Given the description of an element on the screen output the (x, y) to click on. 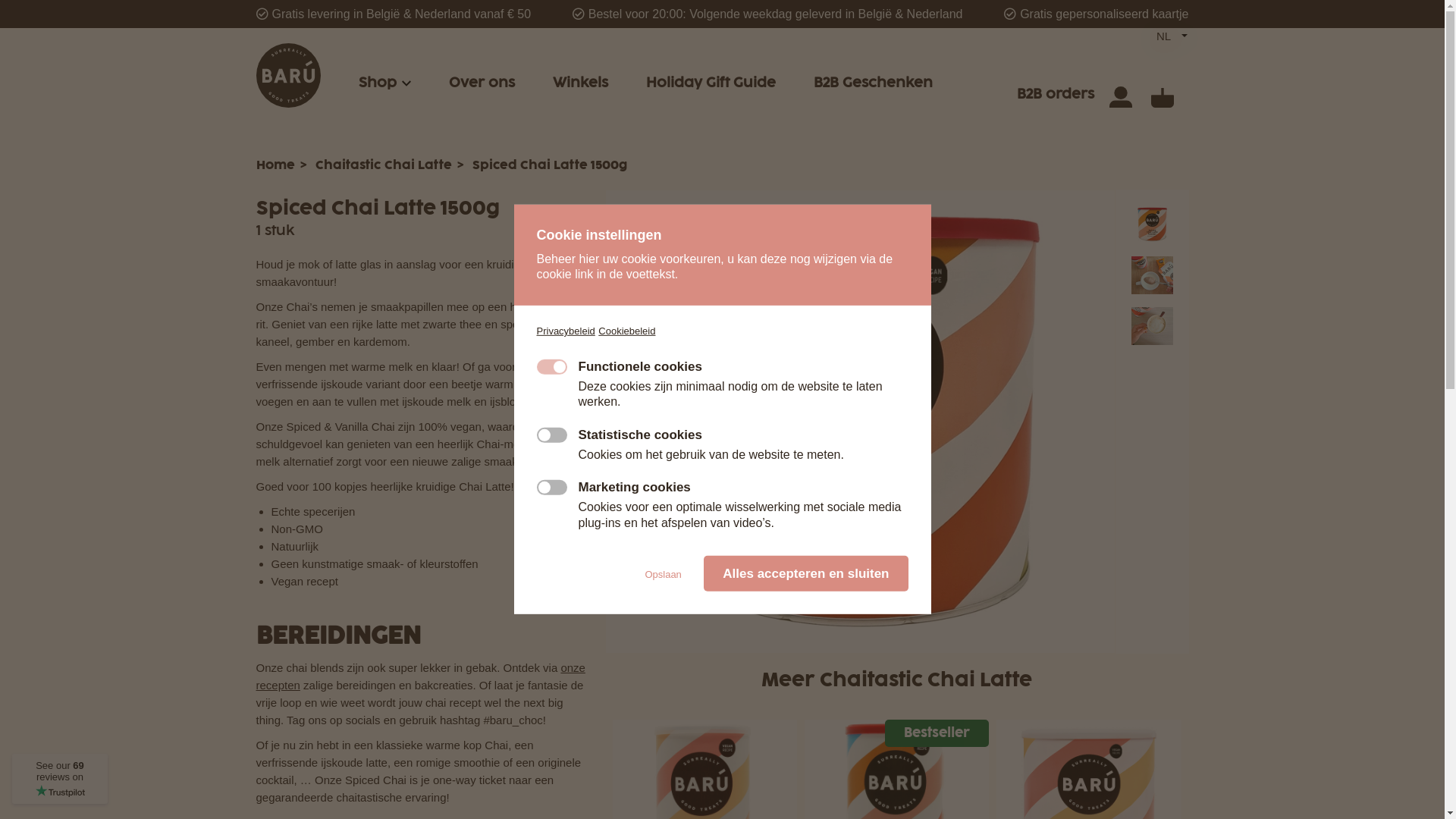
B2B orders Element type: text (1054, 93)
Alles accepteren en sluiten Element type: text (805, 573)
B2B Geschenken Element type: text (871, 82)
Shop Element type: text (376, 82)
recepten Element type: text (278, 684)
Opslaan Element type: text (662, 574)
Holiday Gift Guide Element type: text (710, 82)
Customer reviews powered by Trustpilot Element type: hover (59, 778)
Inloggen Element type: text (1119, 94)
Cookiebeleid Element type: text (626, 330)
Over ons Element type: text (481, 82)
Winkels Element type: text (579, 82)
Chaitastic Chai Latte Element type: text (925, 680)
Home Element type: text (275, 165)
onze Element type: text (572, 667)
Privacybeleid Element type: text (565, 330)
Overslaan en naar de inhoud gaan Element type: text (0, 0)
Chaitastic Chai Latte Element type: text (383, 165)
